Given the description of an element on the screen output the (x, y) to click on. 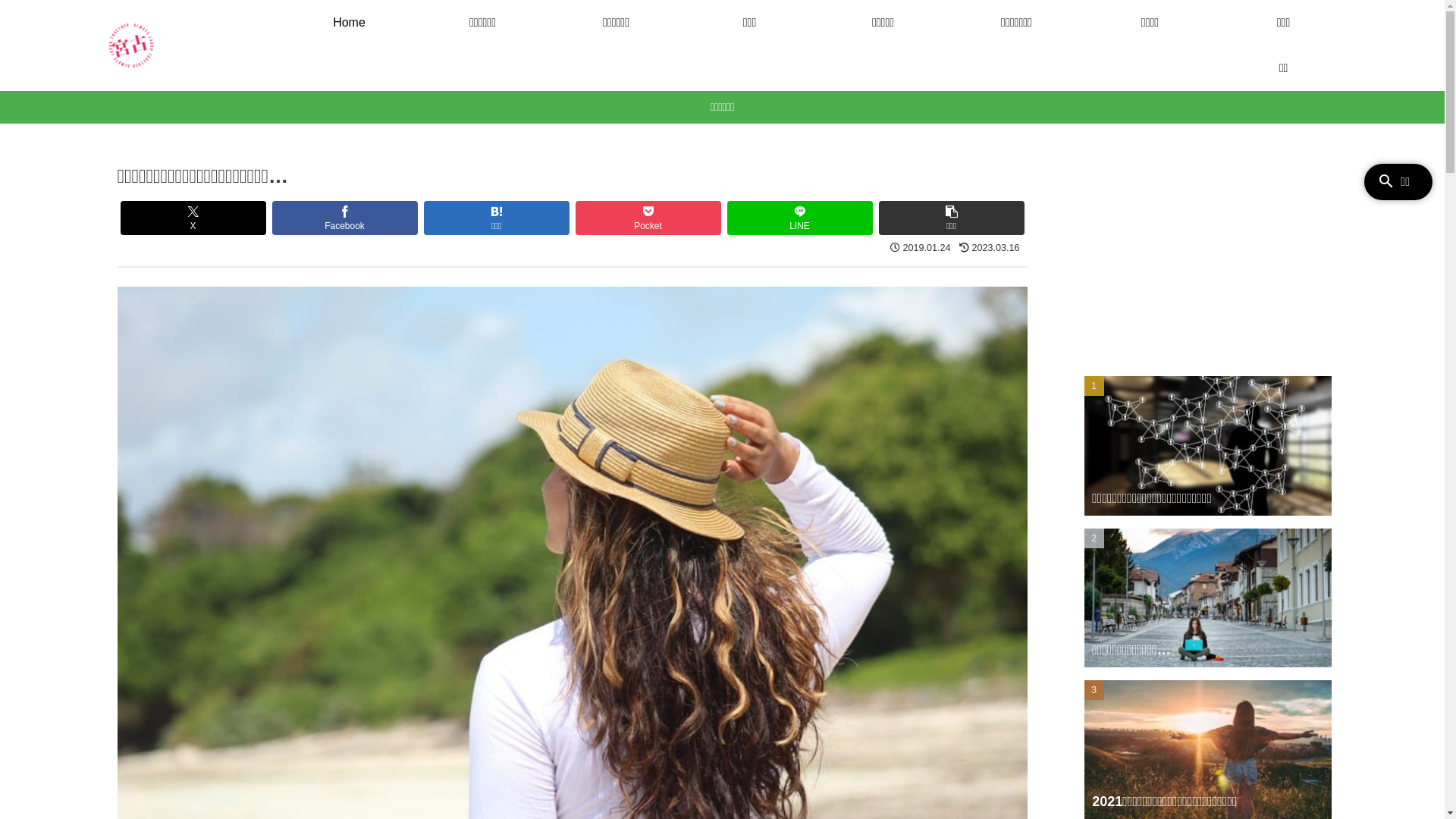
Pocket Element type: text (647, 217)
X Element type: text (192, 217)
LINE Element type: text (799, 217)
Home Element type: text (348, 22)
Advertisement Element type: hover (1206, 244)
Facebook Element type: text (344, 217)
